Given the description of an element on the screen output the (x, y) to click on. 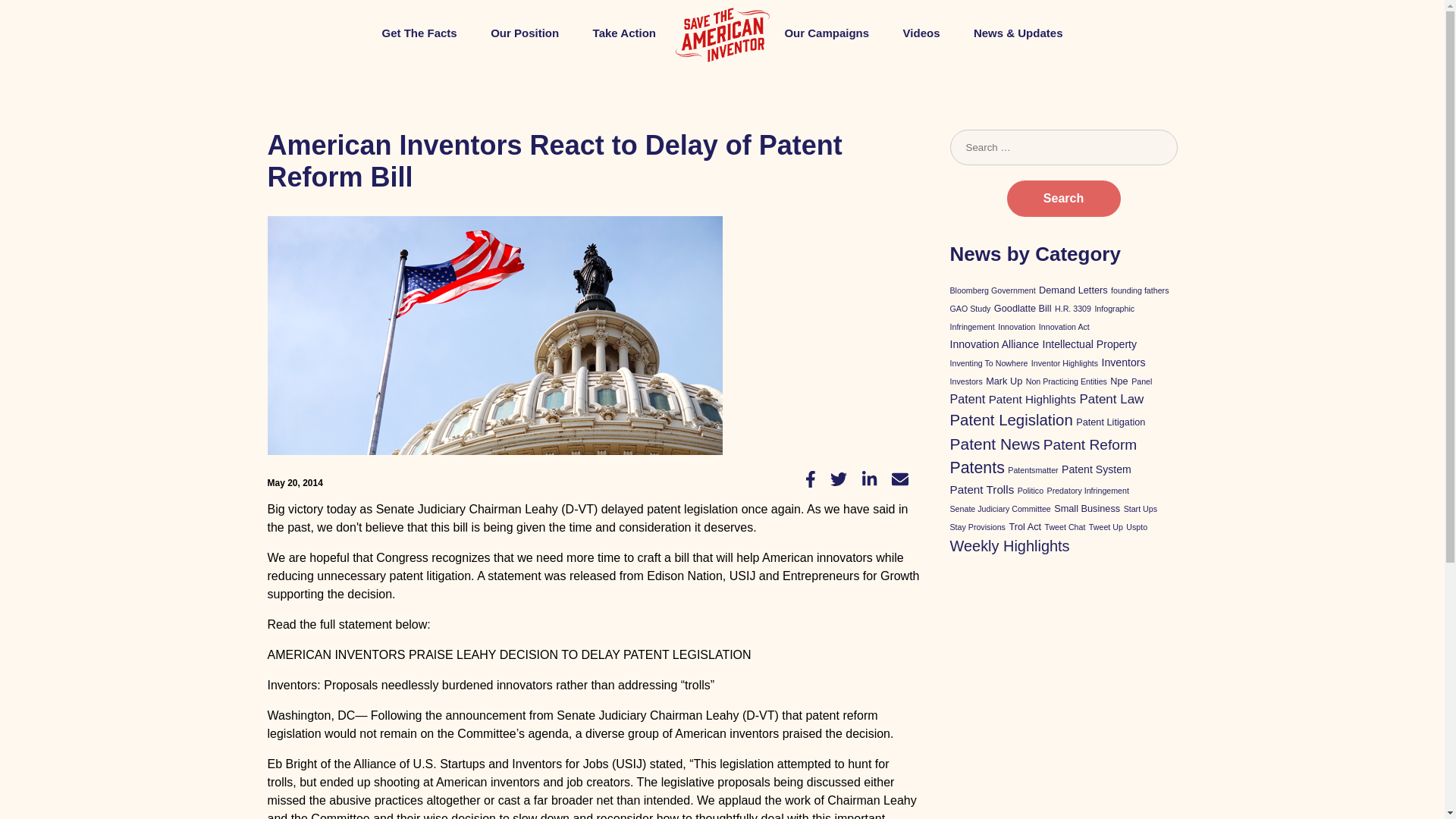
GAO Study (969, 307)
Videos (921, 32)
Inventor Highlights (1063, 362)
Panel (1141, 380)
Inventing To Nowhere (988, 362)
Demand Letters (1073, 289)
Goodlatte Bill (1022, 307)
Innovation Alliance (994, 344)
Our Campaigns (826, 32)
Our Position (524, 32)
Search (1064, 198)
Innovation Act (1064, 326)
Investors (965, 380)
founding fathers (1139, 289)
Patent (967, 398)
